Given the description of an element on the screen output the (x, y) to click on. 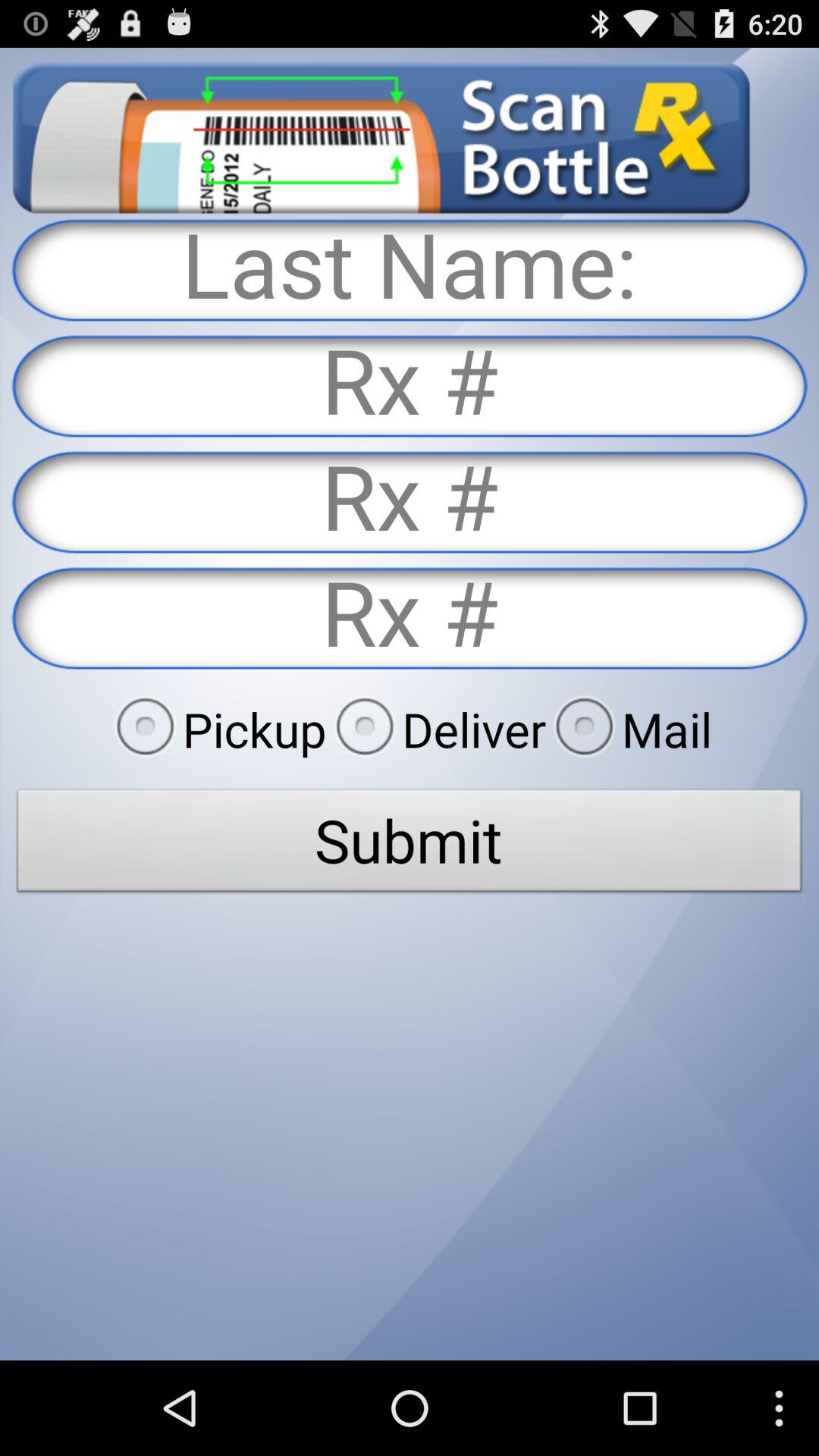
tap the icon to the right of the pickup radio button (436, 728)
